Given the description of an element on the screen output the (x, y) to click on. 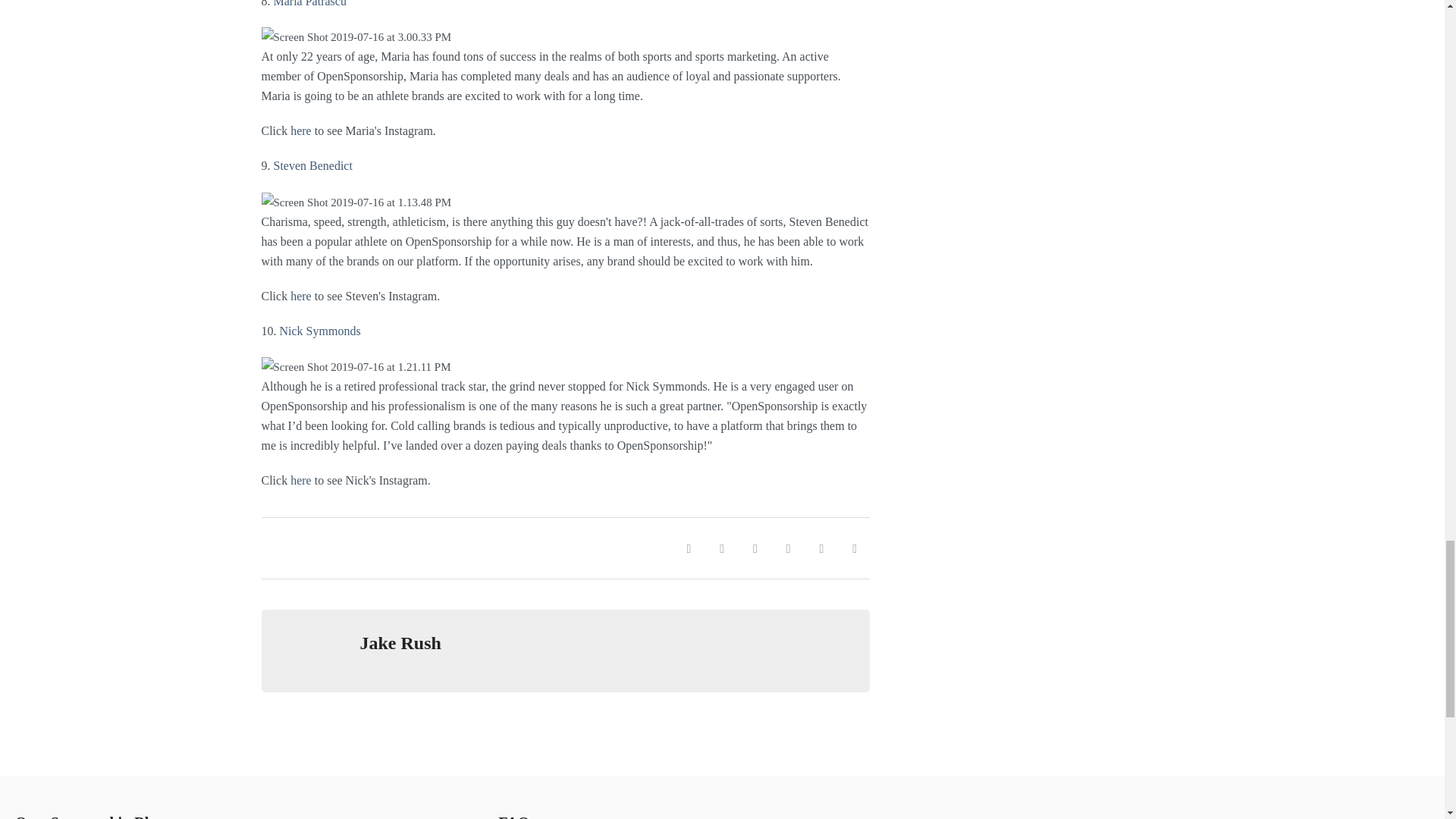
Twitter (721, 548)
Facebook (687, 548)
Whatsapp (754, 548)
Nick Symmonds (319, 330)
here (300, 130)
Maria Patrascu (309, 3)
here (300, 480)
Steven Benedict (312, 164)
skype (854, 548)
here (300, 295)
